Given the description of an element on the screen output the (x, y) to click on. 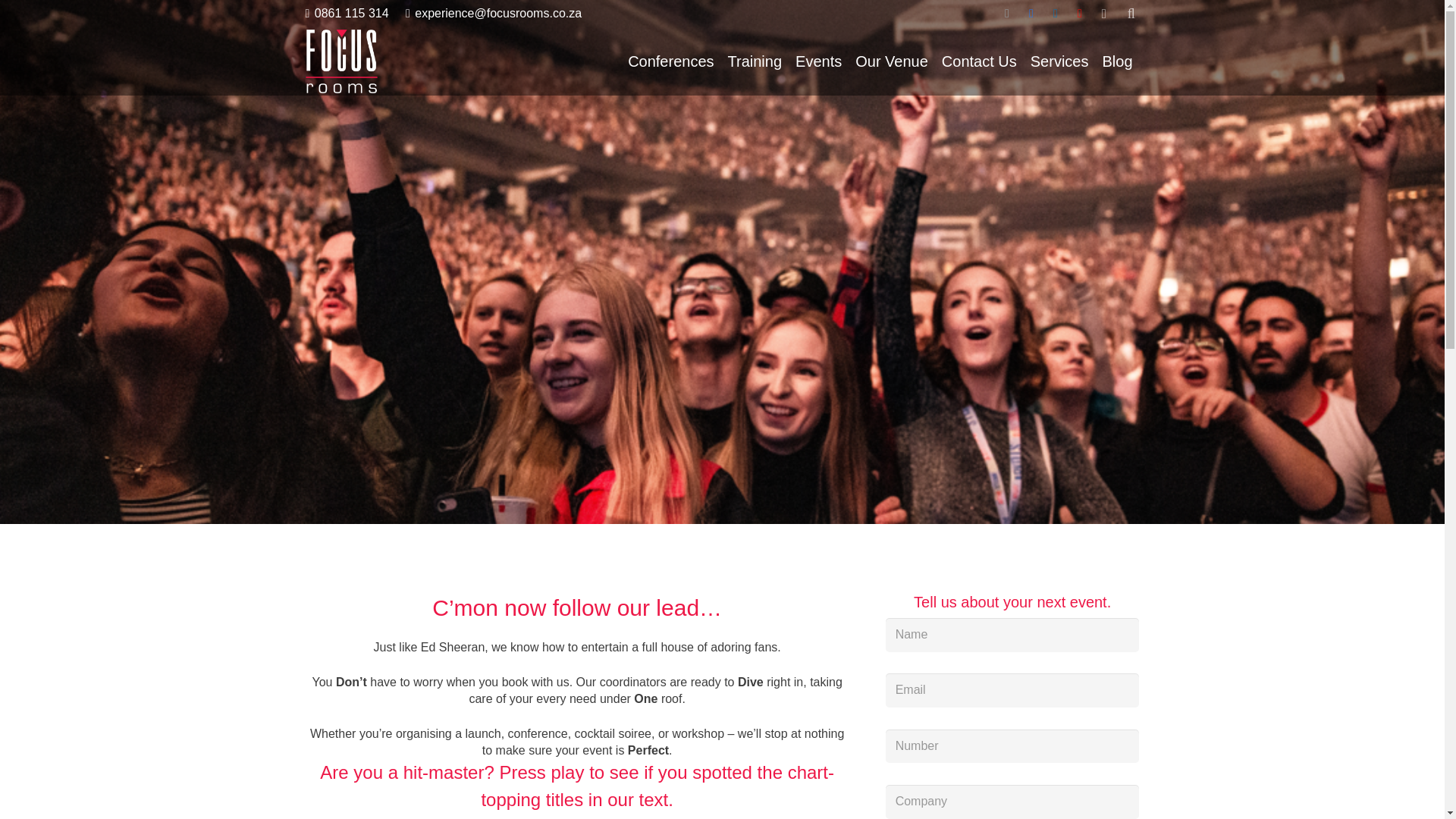
Email (1006, 13)
Instagram (1104, 13)
Conferences (670, 61)
Training (754, 61)
Our Venue (891, 61)
LinkedIn (1055, 13)
Facebook (1031, 13)
YouTube (1079, 13)
